Given the description of an element on the screen output the (x, y) to click on. 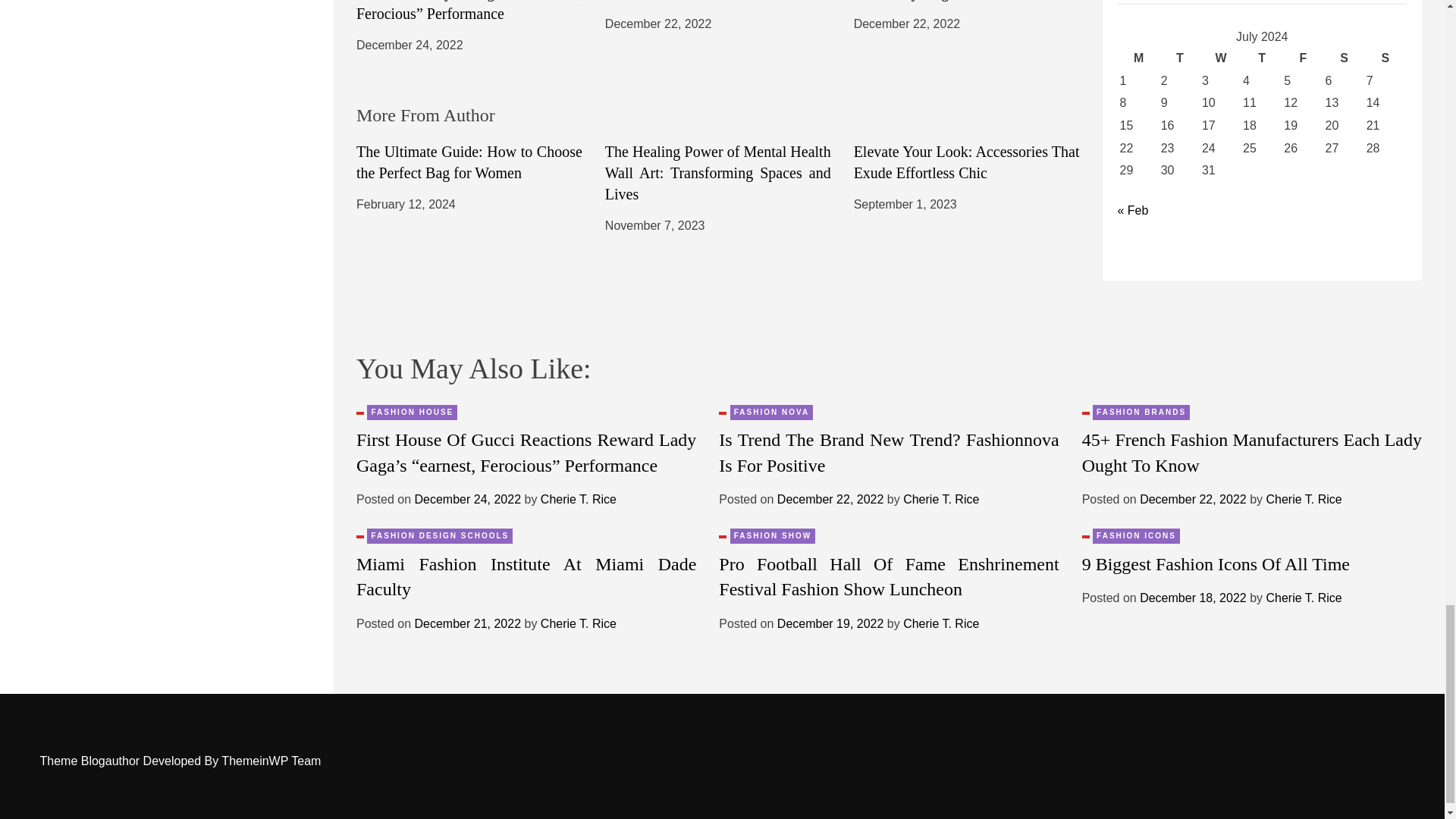
Wednesday (1220, 57)
Thursday (1261, 57)
Sunday (1385, 57)
Tuesday (1179, 57)
Friday (1302, 57)
Monday (1138, 57)
Saturday (1344, 57)
